Given the description of an element on the screen output the (x, y) to click on. 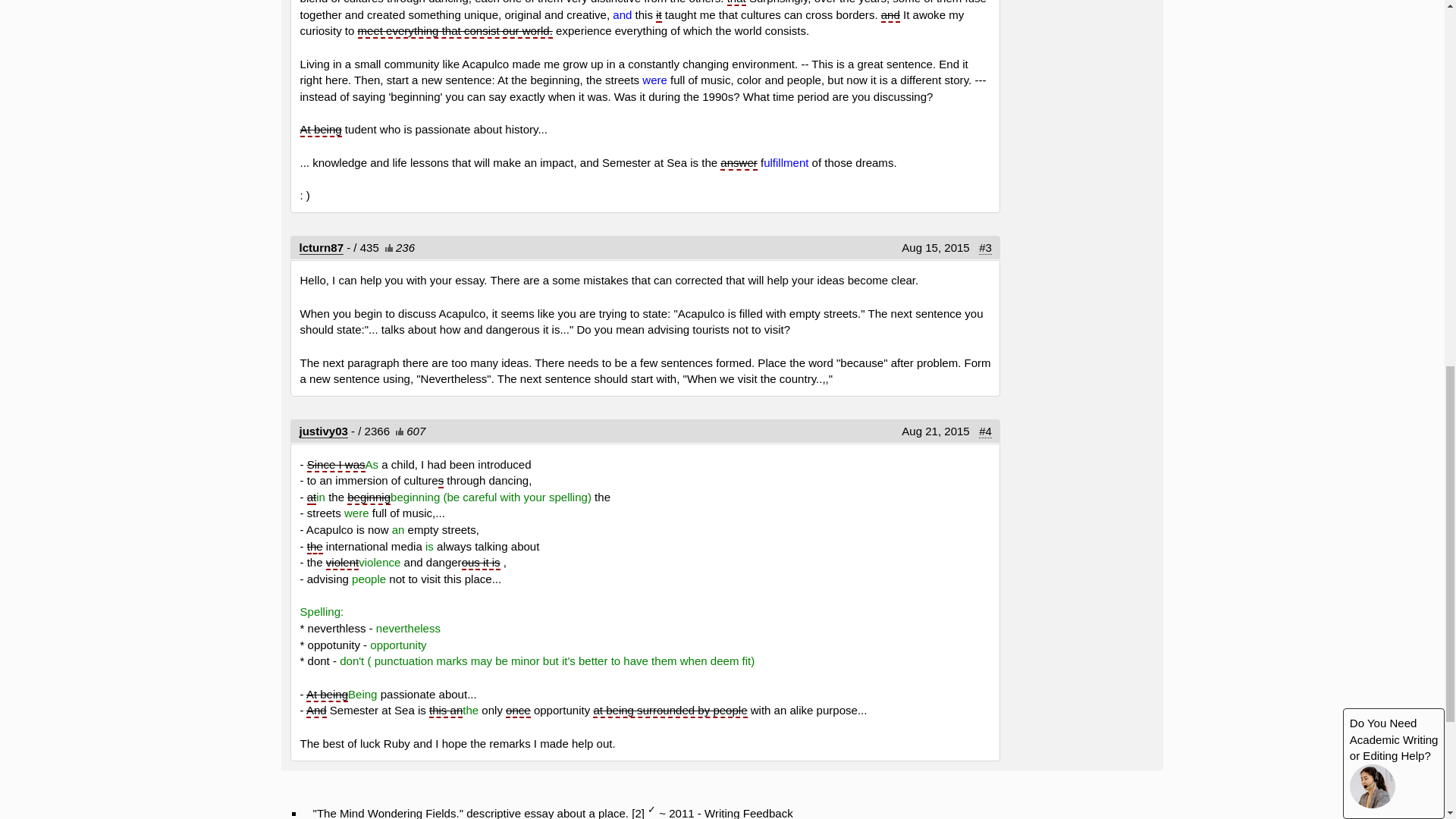
lcturn87 (321, 247)
Author: Lakia Turner (321, 247)
Author: Ivy Maye Favor (323, 431)
justivy03 (323, 431)
Likes (387, 247)
Likes (398, 430)
